Given the description of an element on the screen output the (x, y) to click on. 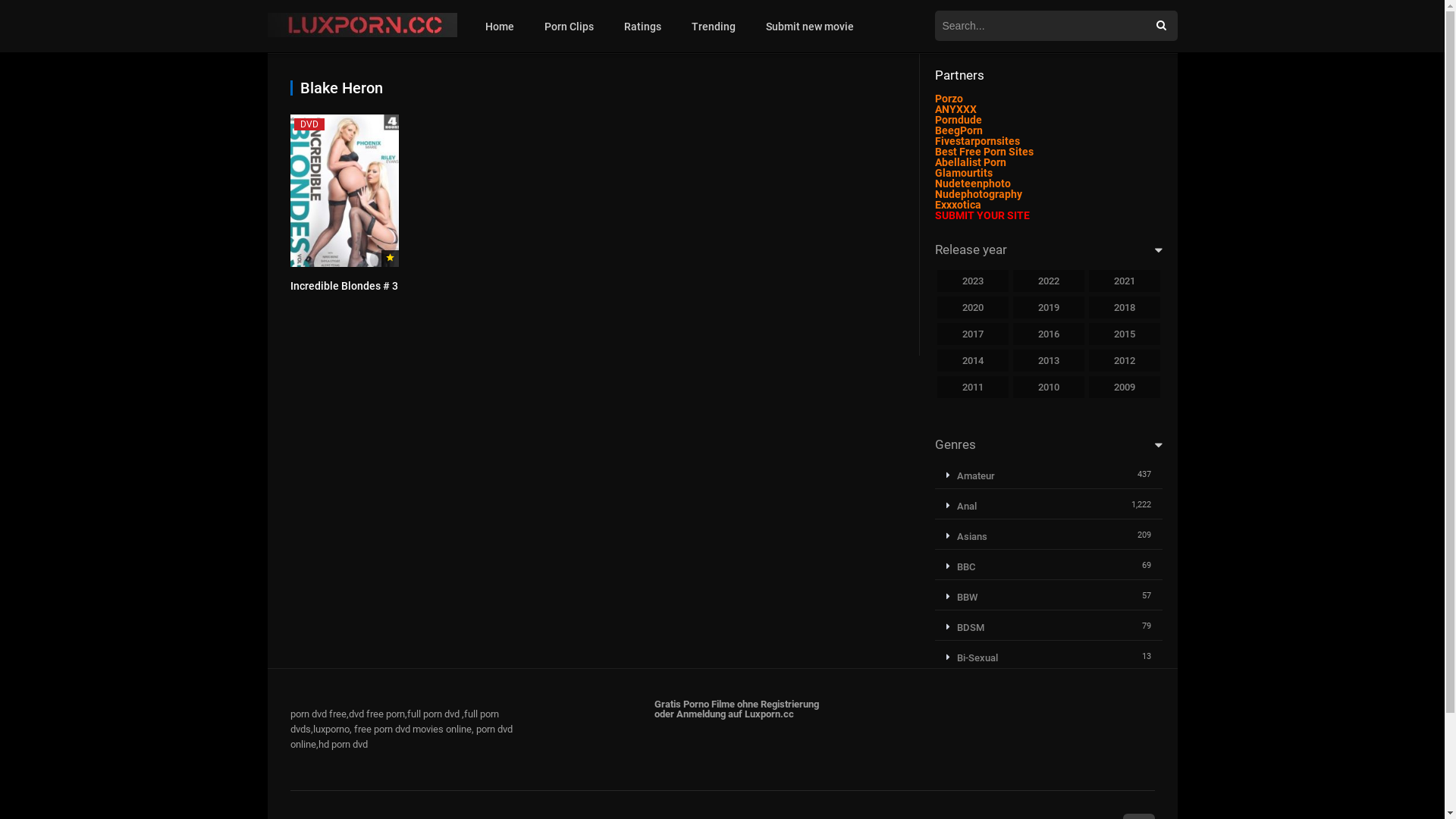
2015 Element type: text (1124, 334)
2018 Element type: text (1124, 307)
BBW Element type: text (961, 596)
2020 Element type: text (972, 307)
Ratings Element type: text (642, 26)
Trending Element type: text (713, 26)
2021 Element type: text (1124, 280)
Glamourtits Element type: text (962, 172)
Best Free Porn Sites Element type: hover (1011, 183)
2023 Element type: text (972, 280)
Submit new movie Element type: text (809, 26)
2010 Element type: text (1048, 387)
2013 Element type: text (1048, 360)
2019 Element type: text (1048, 307)
2022 Element type: text (1048, 280)
Nudephotography Element type: text (977, 194)
Porndude Element type: text (957, 119)
ANYXXX Element type: text (954, 109)
SUBMIT YOUR SITE Element type: text (981, 215)
  Element type: text (1011, 183)
Anal Element type: text (961, 505)
Abellalist Porn Element type: text (969, 162)
Bi-Sexual Element type: text (971, 657)
BeegPorn Element type: text (958, 130)
2009 Element type: text (1124, 387)
2011 Element type: text (972, 387)
Nudeteenphoto Element type: text (972, 183)
Amateur Element type: text (970, 475)
Fivestarpornsites Element type: text (976, 140)
Porzo Element type: text (948, 98)
BBC Element type: text (960, 566)
BDSM Element type: text (965, 627)
2017 Element type: text (972, 334)
Exxxotica Element type: text (957, 204)
2016 Element type: text (1048, 334)
2012 Element type: text (1124, 360)
Home Element type: text (499, 26)
Best Free Porn Sites Element type: text (983, 151)
Incredible Blondes # 3 Element type: text (343, 285)
Porn Clips Element type: text (568, 26)
Asians Element type: text (966, 536)
2014 Element type: text (972, 360)
